Given the description of an element on the screen output the (x, y) to click on. 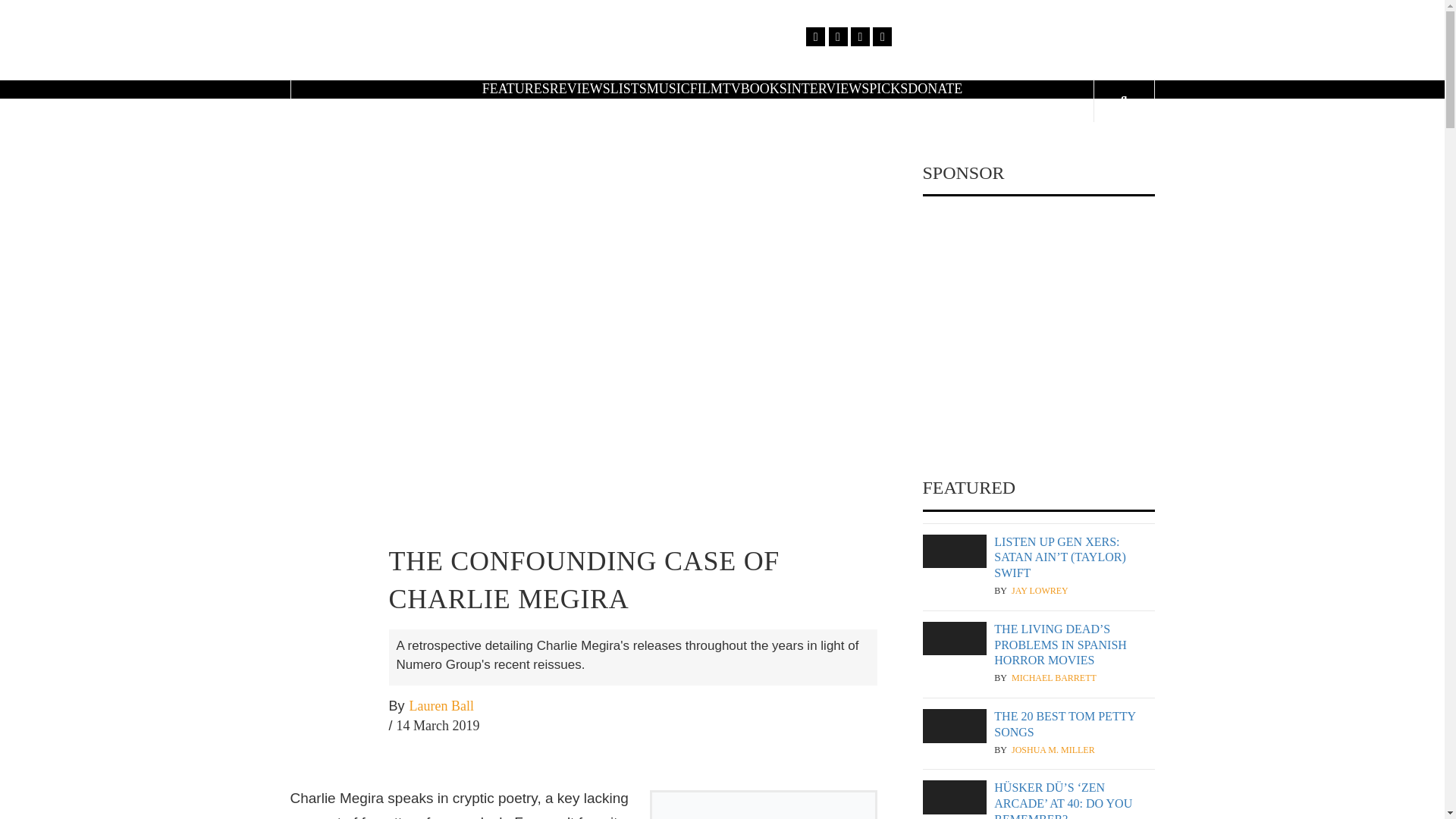
Joshua M. Miller (1052, 749)
Facebook (815, 36)
Spotify (881, 36)
Instagram (859, 36)
BOOKS (764, 88)
The Confounding Case of Charlie Megira (582, 358)
TV (731, 88)
REVIEWS (580, 88)
LISTS (628, 88)
Twitter (837, 36)
FEATURES (515, 88)
Lauren Ball (441, 706)
Jay Lowrey (1039, 590)
Lauren Ball (441, 706)
